Given the description of an element on the screen output the (x, y) to click on. 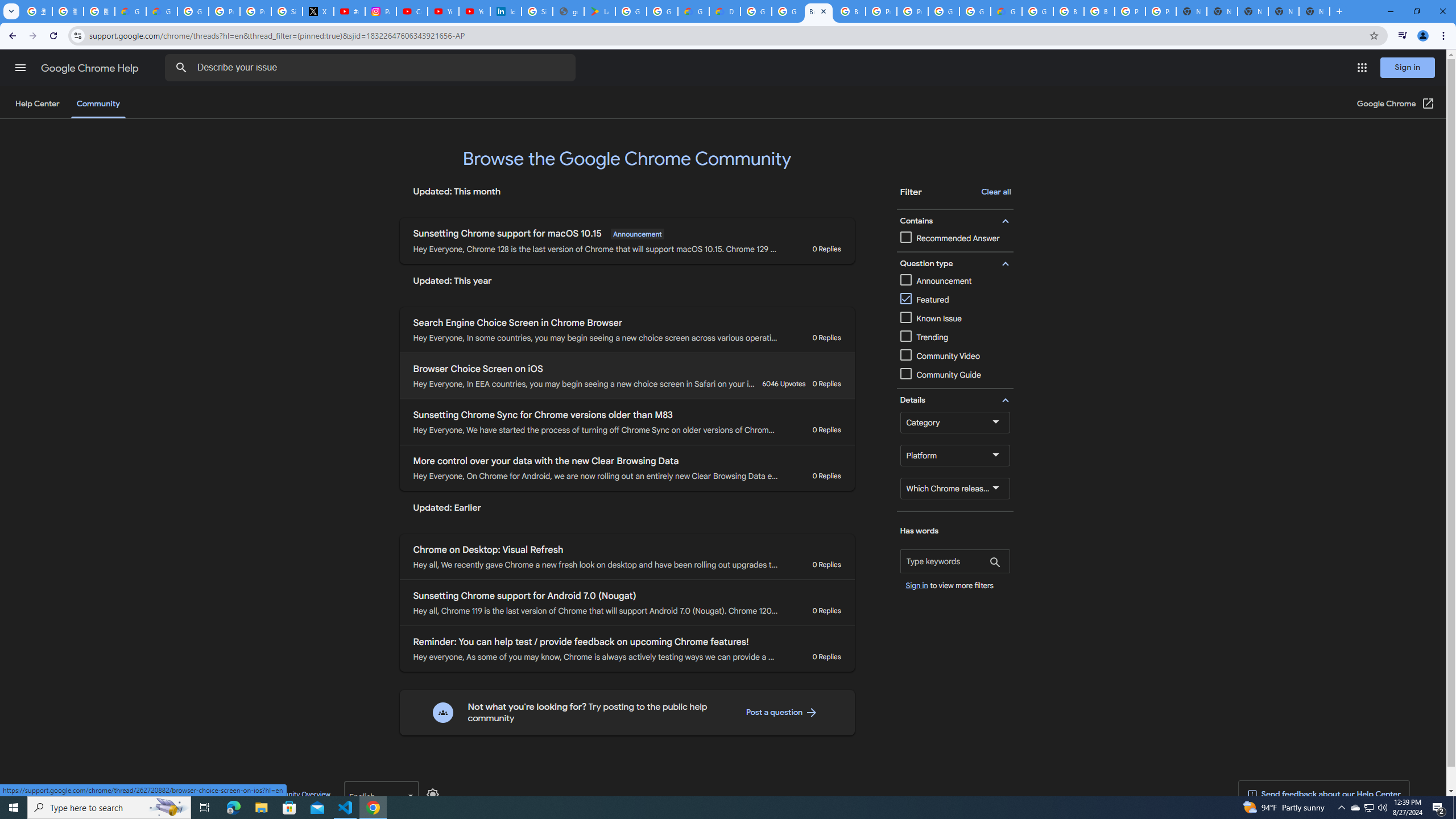
Google Cloud Privacy Notice (130, 11)
Google Cloud Platform (1037, 11)
 Question type filter group  (953, 263)
Featured (924, 300)
Sign in - Google Accounts (286, 11)
Google Chrome (Open in a new window) (1395, 103)
X (318, 11)
 Contains filter group  (953, 220)
Has words (954, 561)
